Given the description of an element on the screen output the (x, y) to click on. 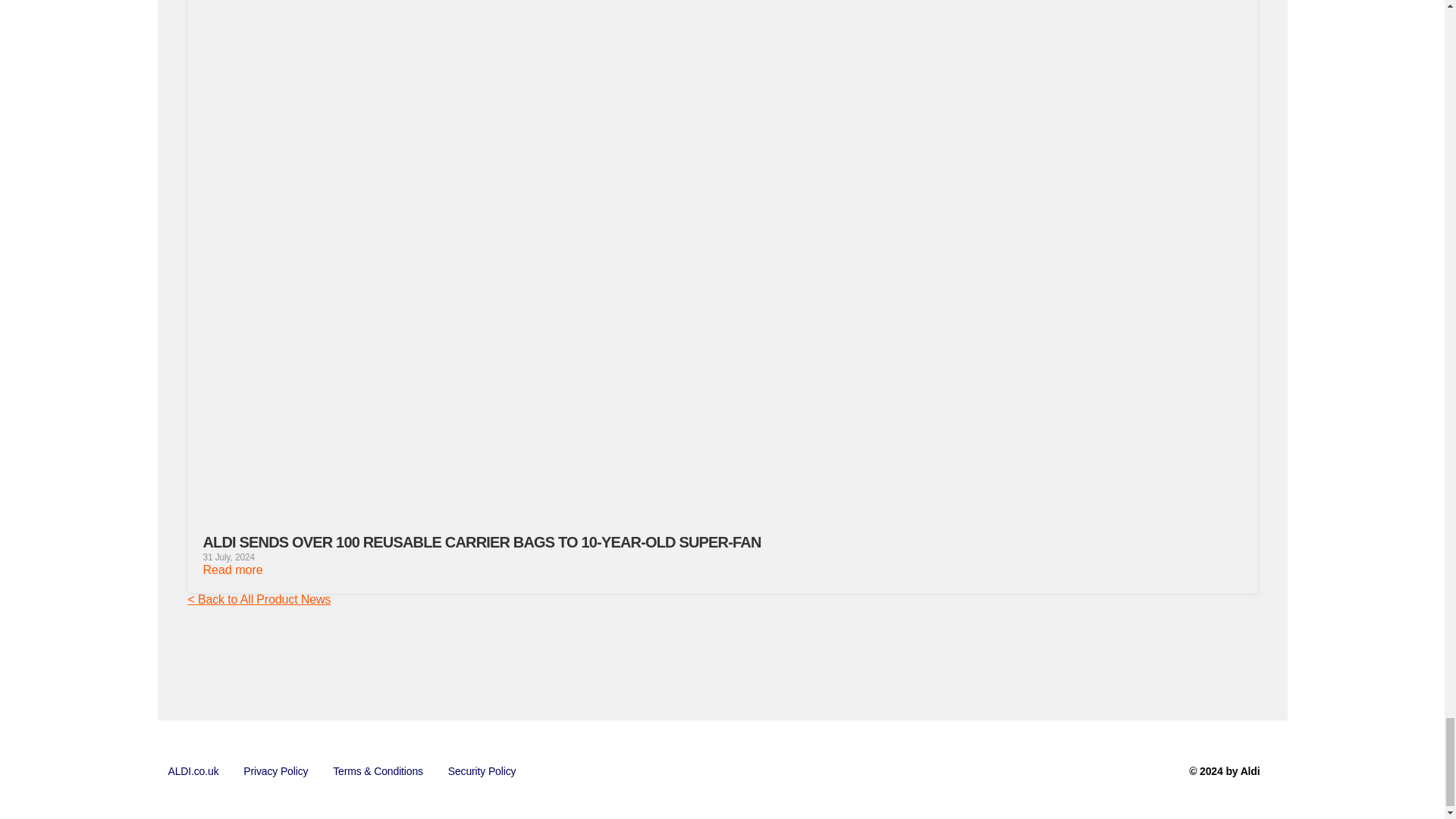
Privacy Policy (275, 771)
ALDI.co.uk (193, 771)
